Given the description of an element on the screen output the (x, y) to click on. 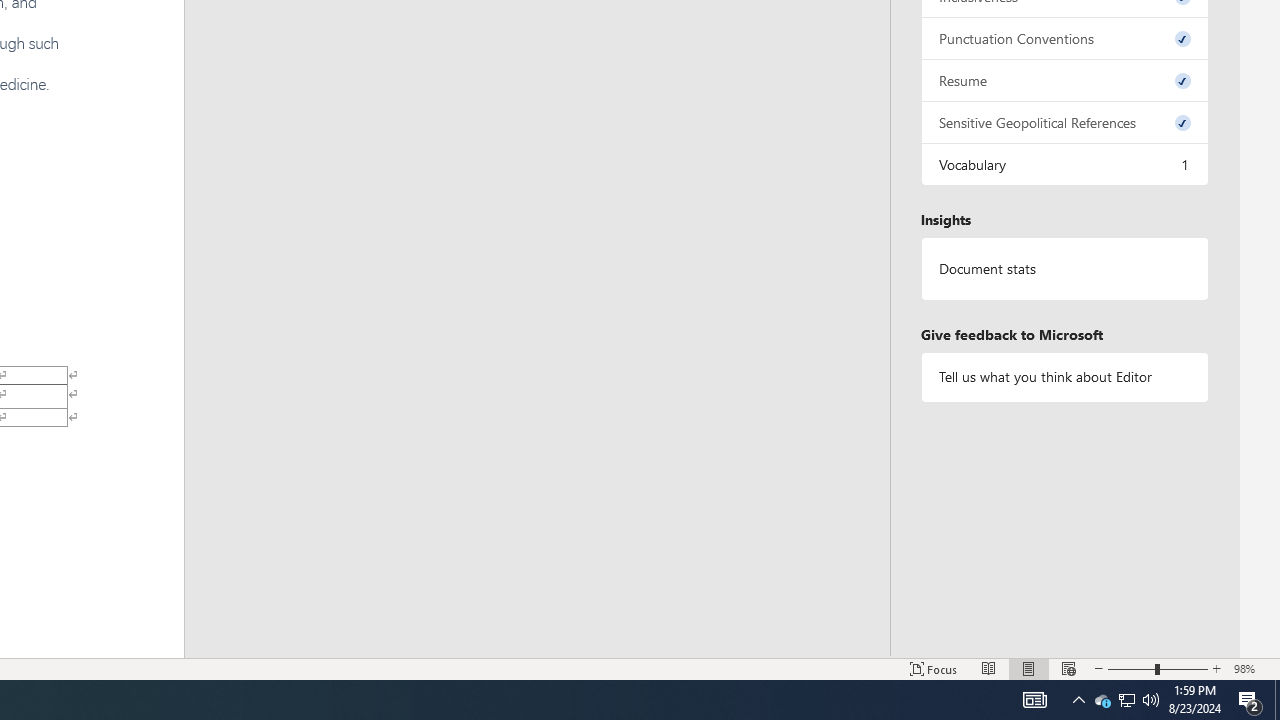
Vocabulary, 1 issue. Press space or enter to review items. (1064, 164)
Focus  (934, 668)
Tell us what you think about Editor (1064, 376)
Zoom Out (1131, 668)
Print Layout (1028, 668)
Document statistics (1064, 269)
Zoom (1158, 668)
Web Layout (1069, 668)
Read Mode (988, 668)
Zoom In (1217, 668)
Resume, 0 issues. Press space or enter to review items. (1064, 79)
